Given the description of an element on the screen output the (x, y) to click on. 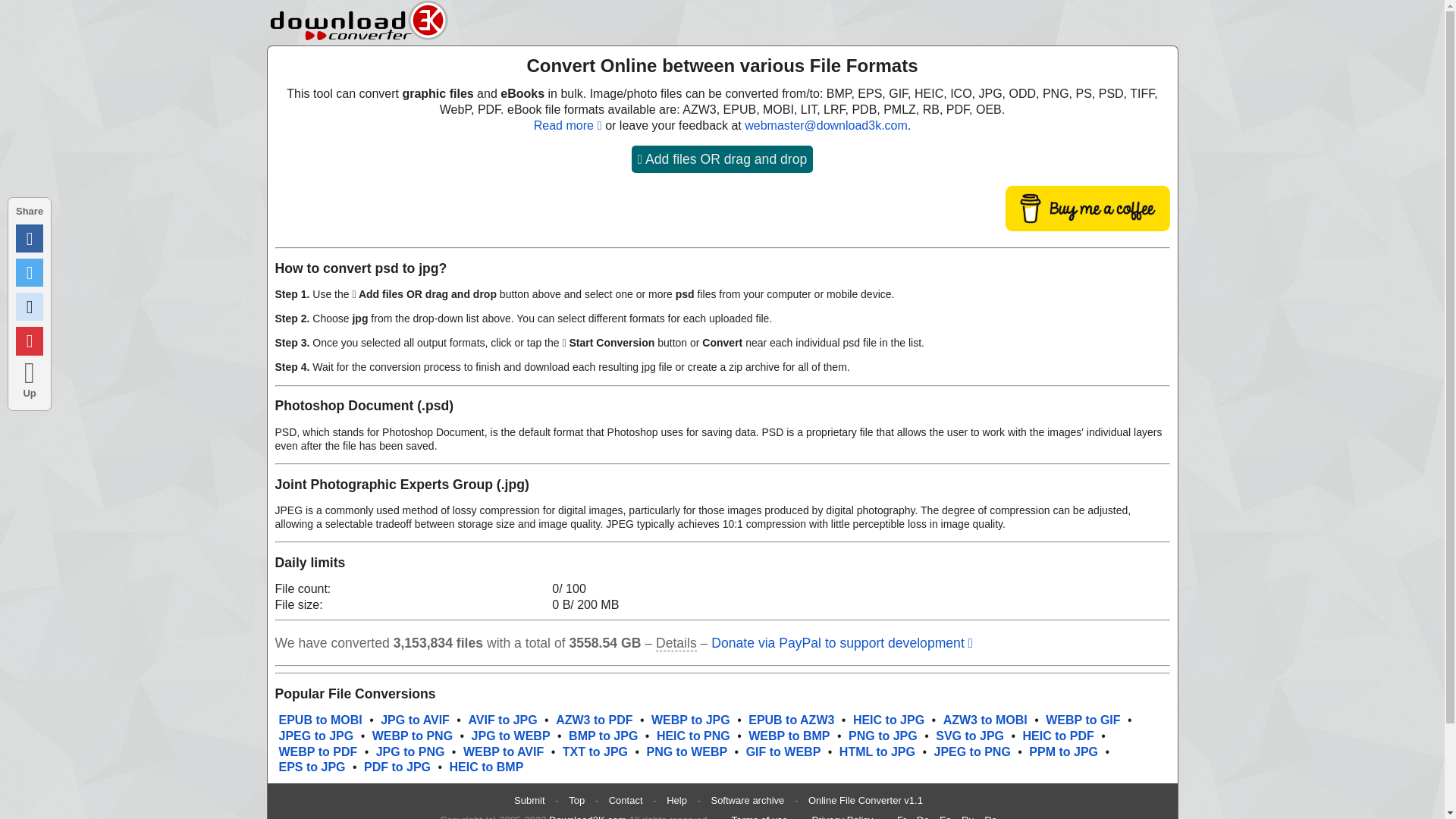
JPEG to JPG (316, 735)
JPG to PNG (410, 751)
Contact (625, 799)
JPEG to PNG (971, 751)
Share on Twitter (29, 272)
EPUB to AZW3 (791, 719)
WEBP to GIF (1082, 719)
PPM to JPG (1063, 751)
HEIC to BMP (486, 766)
GIF to WEBP (783, 751)
